Given the description of an element on the screen output the (x, y) to click on. 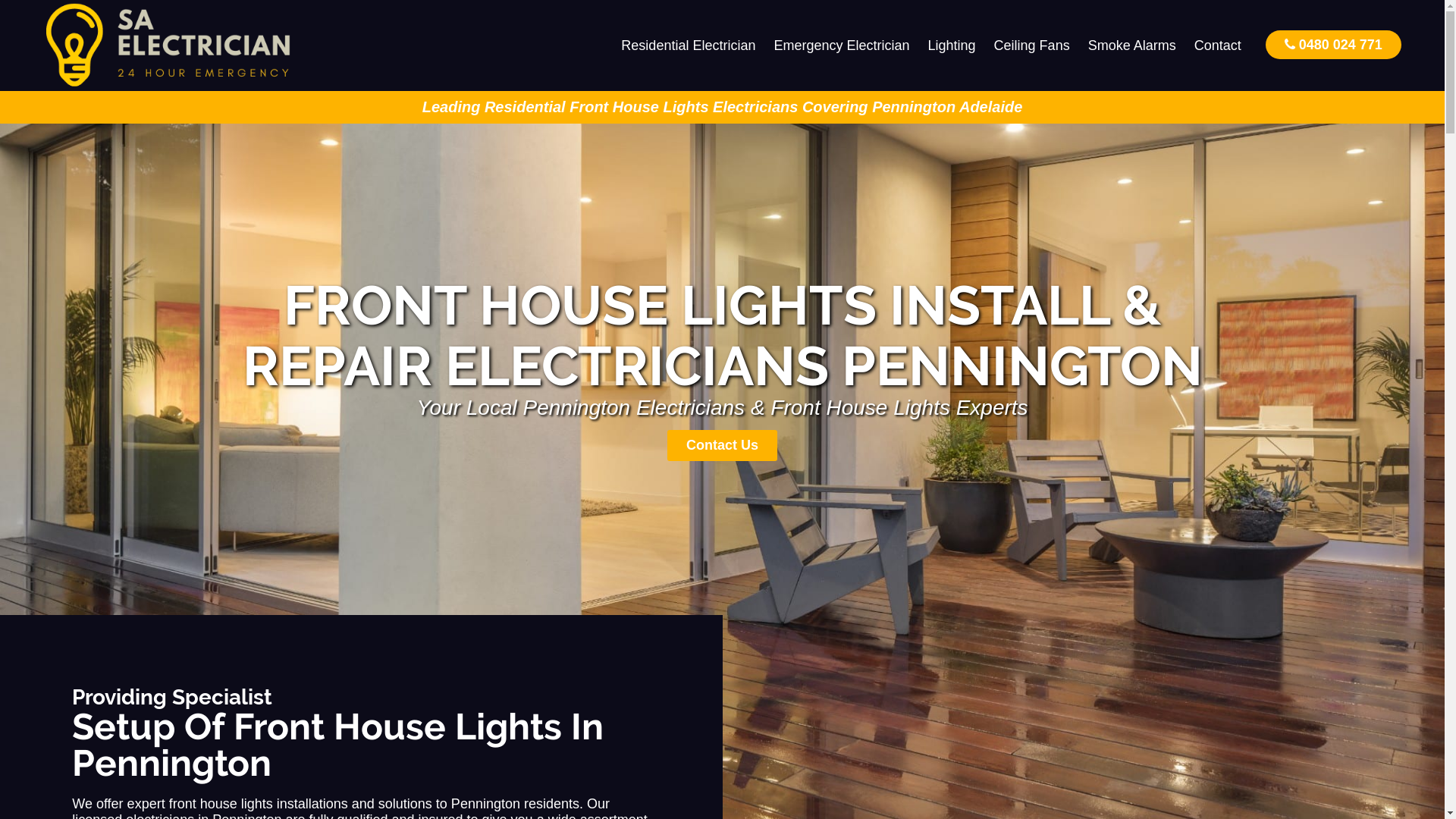
Lighting Element type: text (952, 45)
Emergency Electrician Element type: text (841, 45)
Ceiling Fans Element type: text (1032, 45)
Smoke Alarms Element type: text (1132, 45)
Contact Element type: text (1217, 45)
Residential Electrician Element type: text (687, 45)
0480 024 771 Element type: text (1333, 44)
Contact Us Element type: text (722, 445)
